Given the description of an element on the screen output the (x, y) to click on. 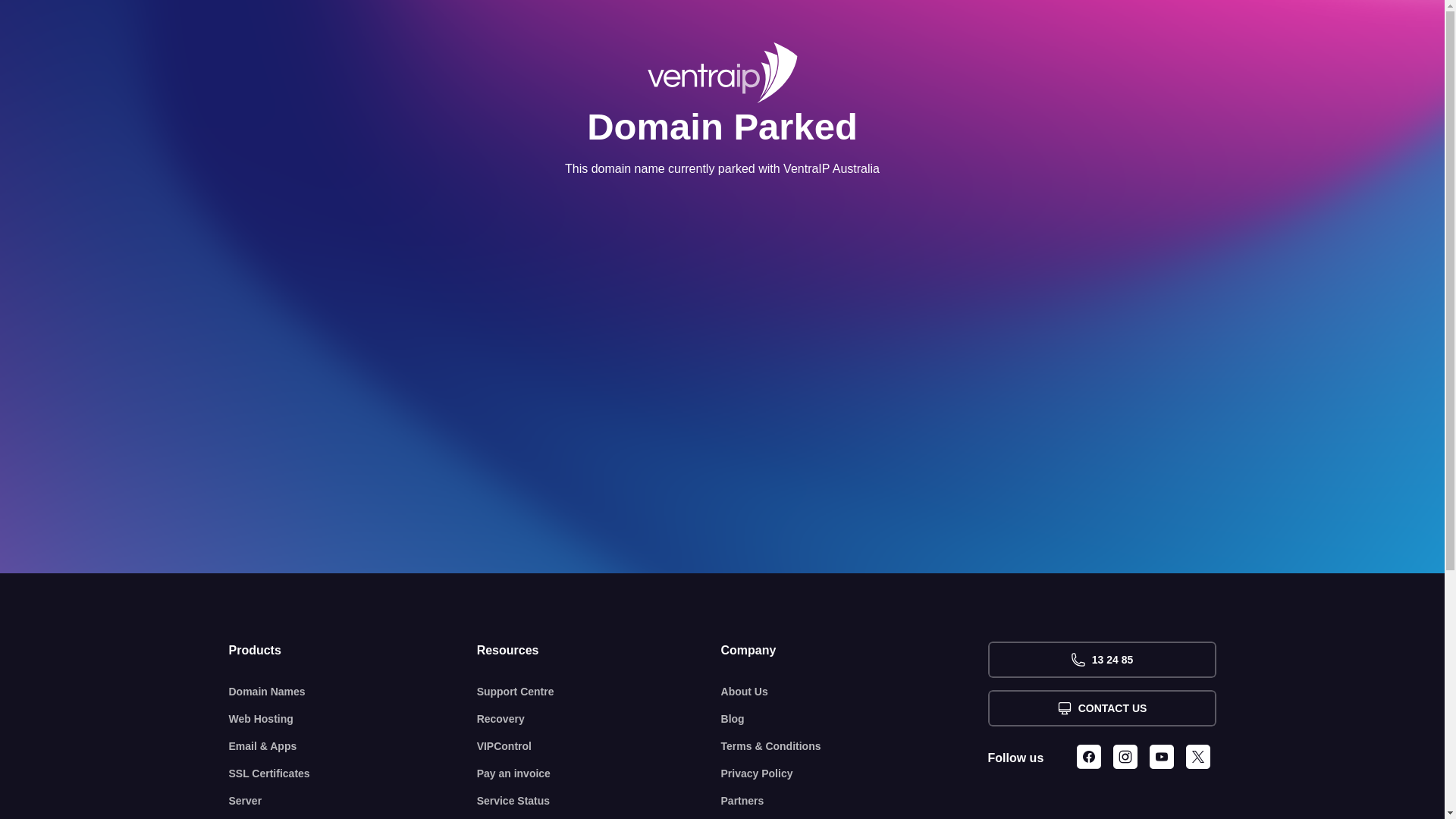
Terms & Conditions Element type: text (854, 745)
Domain Names Element type: text (352, 691)
About Us Element type: text (854, 691)
13 24 85 Element type: text (1101, 659)
Support Centre Element type: text (598, 691)
Privacy Policy Element type: text (854, 773)
VIPControl Element type: text (598, 745)
Pay an invoice Element type: text (598, 773)
Blog Element type: text (854, 718)
Server Element type: text (352, 800)
Recovery Element type: text (598, 718)
Partners Element type: text (854, 800)
SSL Certificates Element type: text (352, 773)
Web Hosting Element type: text (352, 718)
CONTACT US Element type: text (1101, 708)
Service Status Element type: text (598, 800)
Email & Apps Element type: text (352, 745)
